Given the description of an element on the screen output the (x, y) to click on. 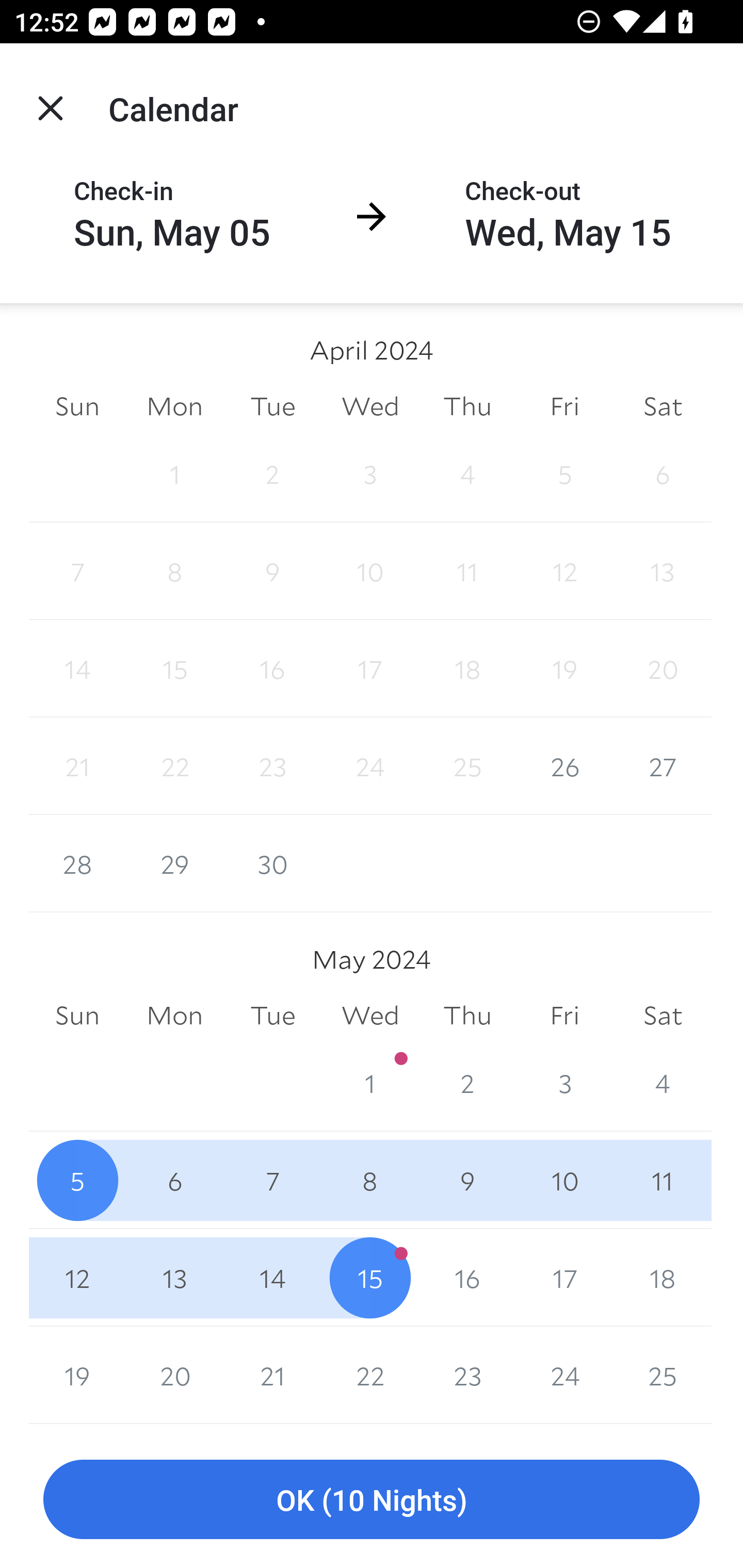
Sun (77, 405)
Mon (174, 405)
Tue (272, 405)
Wed (370, 405)
Thu (467, 405)
Fri (564, 405)
Sat (662, 405)
1 1 April 2024 (174, 473)
2 2 April 2024 (272, 473)
3 3 April 2024 (370, 473)
4 4 April 2024 (467, 473)
5 5 April 2024 (564, 473)
6 6 April 2024 (662, 473)
7 7 April 2024 (77, 570)
8 8 April 2024 (174, 570)
9 9 April 2024 (272, 570)
10 10 April 2024 (370, 570)
11 11 April 2024 (467, 570)
12 12 April 2024 (564, 570)
13 13 April 2024 (662, 570)
14 14 April 2024 (77, 668)
15 15 April 2024 (174, 668)
16 16 April 2024 (272, 668)
17 17 April 2024 (370, 668)
18 18 April 2024 (467, 668)
19 19 April 2024 (564, 668)
20 20 April 2024 (662, 668)
21 21 April 2024 (77, 766)
22 22 April 2024 (174, 766)
23 23 April 2024 (272, 766)
24 24 April 2024 (370, 766)
25 25 April 2024 (467, 766)
26 26 April 2024 (564, 766)
27 27 April 2024 (662, 766)
28 28 April 2024 (77, 863)
29 29 April 2024 (174, 863)
30 30 April 2024 (272, 863)
Sun (77, 1015)
Mon (174, 1015)
Tue (272, 1015)
Wed (370, 1015)
Thu (467, 1015)
Fri (564, 1015)
Sat (662, 1015)
1 1 May 2024 (370, 1083)
2 2 May 2024 (467, 1083)
3 3 May 2024 (564, 1083)
4 4 May 2024 (662, 1083)
5 5 May 2024 (77, 1180)
6 6 May 2024 (174, 1180)
7 7 May 2024 (272, 1180)
8 8 May 2024 (370, 1180)
9 9 May 2024 (467, 1180)
10 10 May 2024 (564, 1180)
11 11 May 2024 (662, 1180)
12 12 May 2024 (77, 1277)
13 13 May 2024 (174, 1277)
14 14 May 2024 (272, 1277)
15 15 May 2024 (370, 1277)
16 16 May 2024 (467, 1277)
17 17 May 2024 (564, 1277)
18 18 May 2024 (662, 1277)
19 19 May 2024 (77, 1374)
20 20 May 2024 (174, 1374)
21 21 May 2024 (272, 1374)
22 22 May 2024 (370, 1374)
23 23 May 2024 (467, 1374)
24 24 May 2024 (564, 1374)
25 25 May 2024 (662, 1374)
OK (10 Nights) (371, 1499)
